Given the description of an element on the screen output the (x, y) to click on. 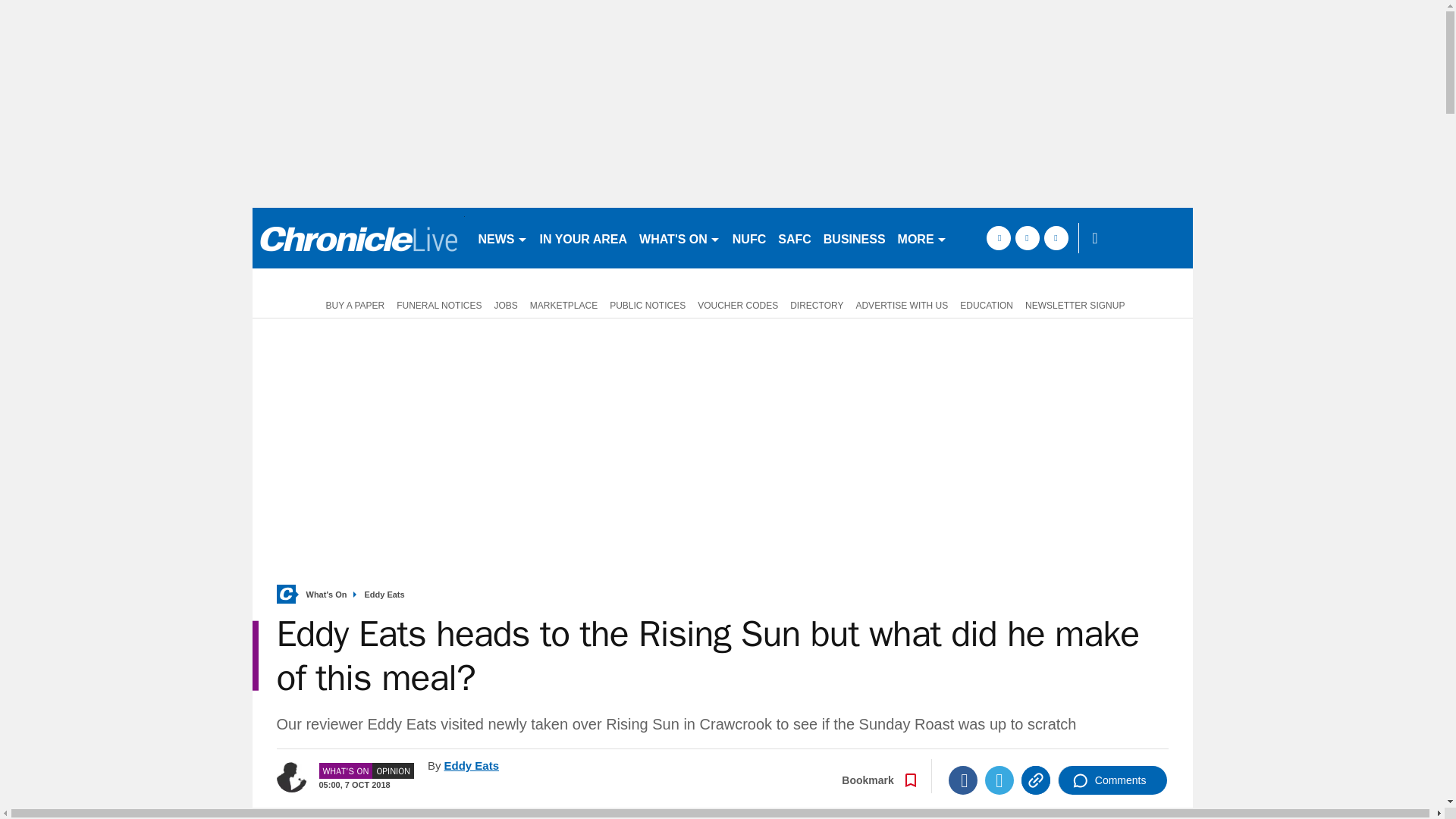
BUSINESS (853, 238)
IN YOUR AREA (583, 238)
Facebook (962, 779)
facebook (997, 238)
nechronicle (357, 238)
twitter (1026, 238)
NEWS (501, 238)
MORE (922, 238)
instagram (1055, 238)
WHAT'S ON (679, 238)
Comments (1112, 779)
Twitter (999, 779)
